Given the description of an element on the screen output the (x, y) to click on. 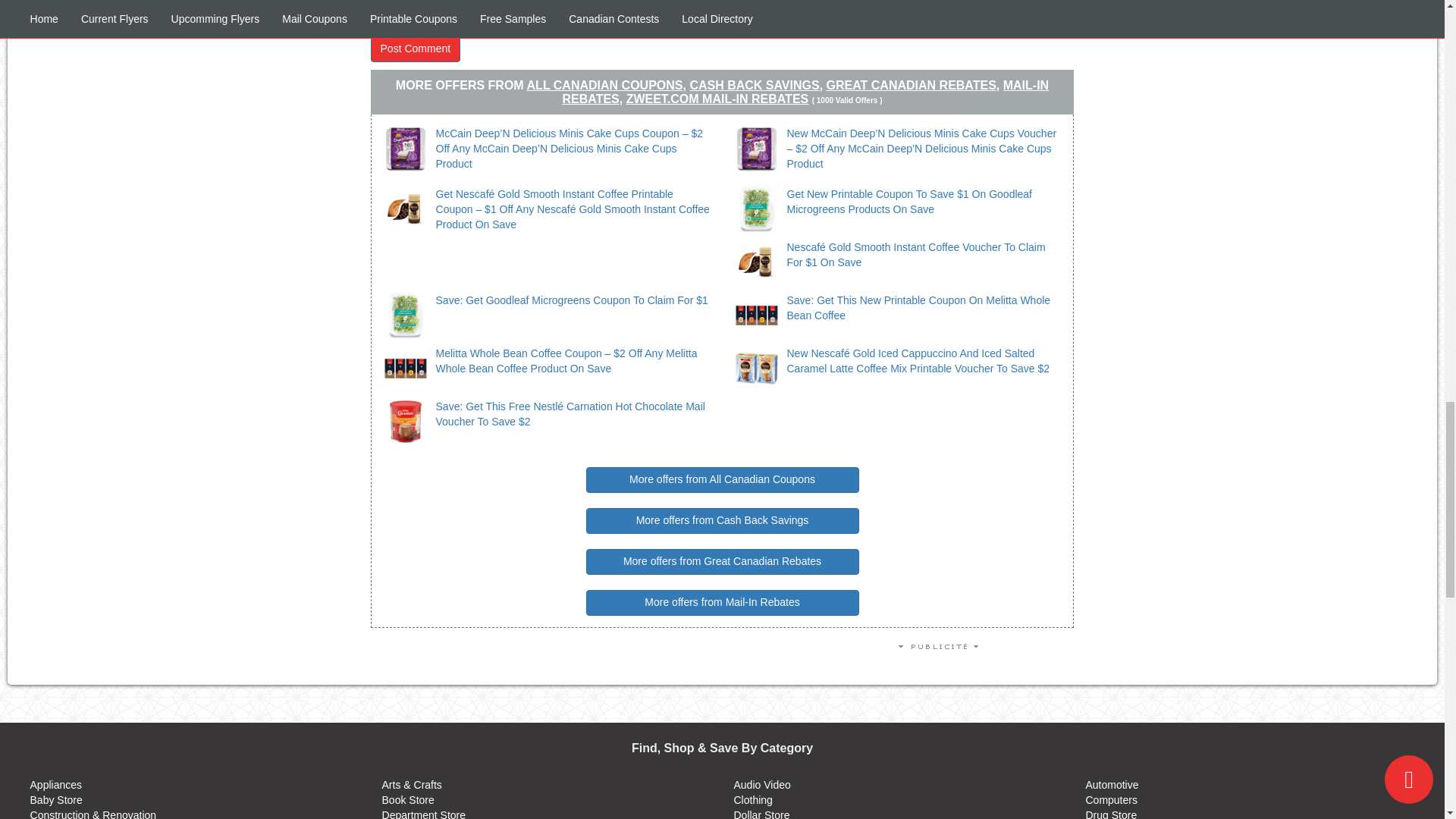
Post Comment (416, 49)
